Given the description of an element on the screen output the (x, y) to click on. 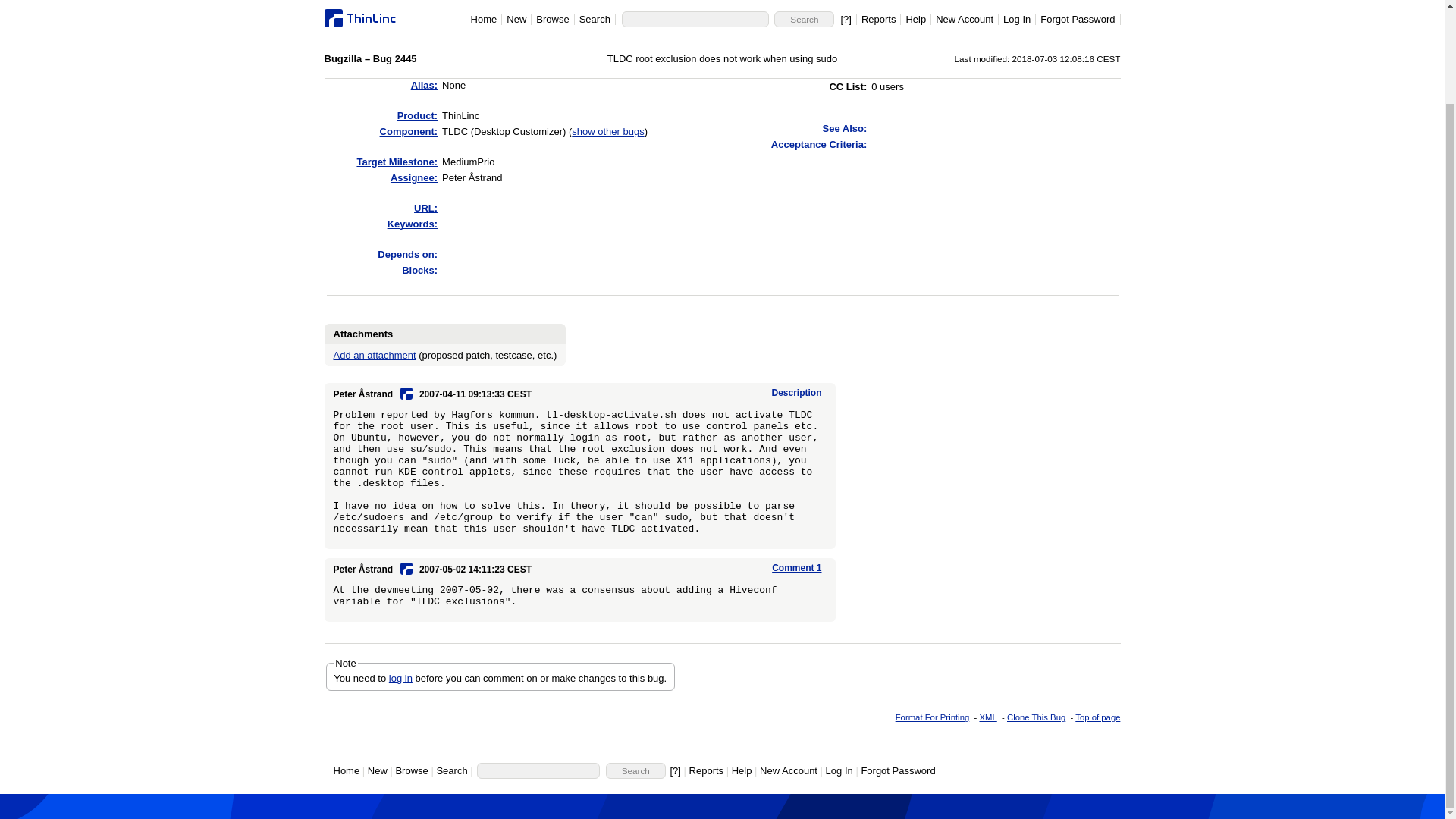
Comment 1 (796, 567)
cendio - Cendio Personnel (406, 392)
Assignee: (414, 177)
show other bugs (607, 131)
Component: (409, 131)
URL: (425, 207)
Status (418, 54)
Target Milestone: (397, 161)
Bug 2445 (361, 17)
